Given the description of an element on the screen output the (x, y) to click on. 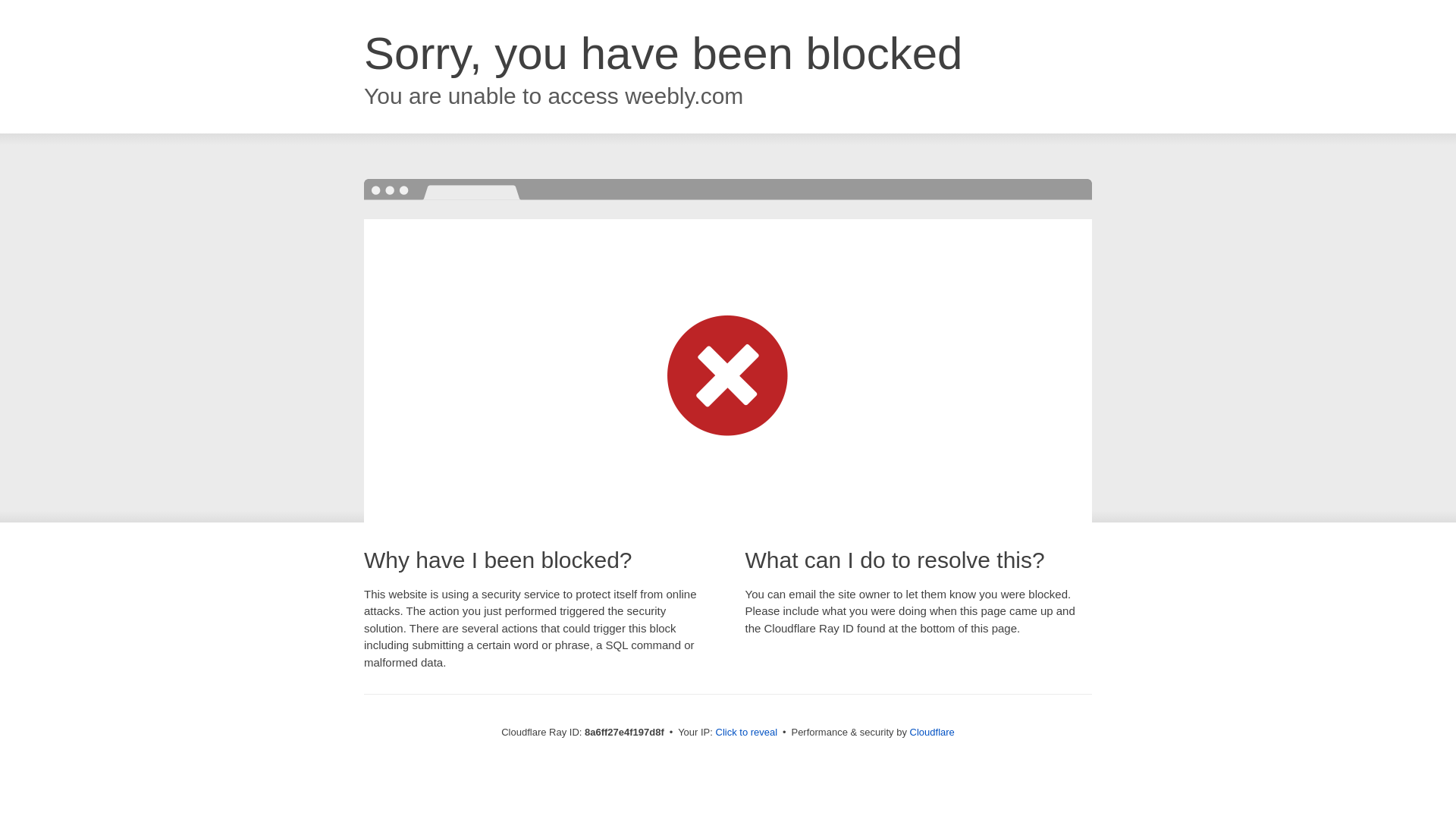
Click to reveal (746, 732)
Cloudflare (932, 731)
